Given the description of an element on the screen output the (x, y) to click on. 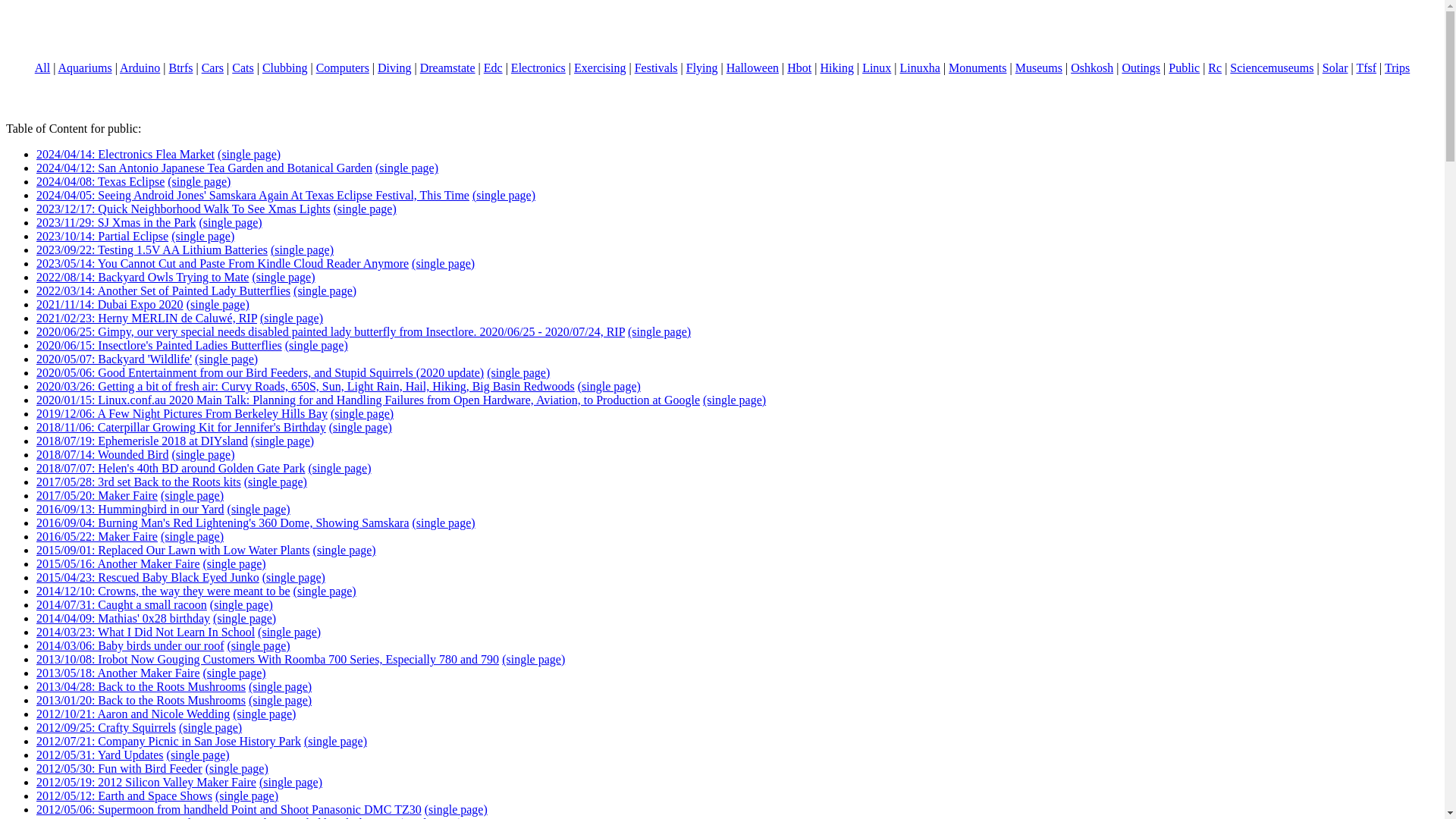
Museums (1038, 67)
Cars (213, 67)
Linuxha (919, 67)
Computers (342, 67)
Hbot (798, 67)
Sciencemuseums (1271, 67)
Dreamstate (448, 67)
Festivals (656, 67)
Clubbing (284, 67)
Arduino (139, 67)
